Given the description of an element on the screen output the (x, y) to click on. 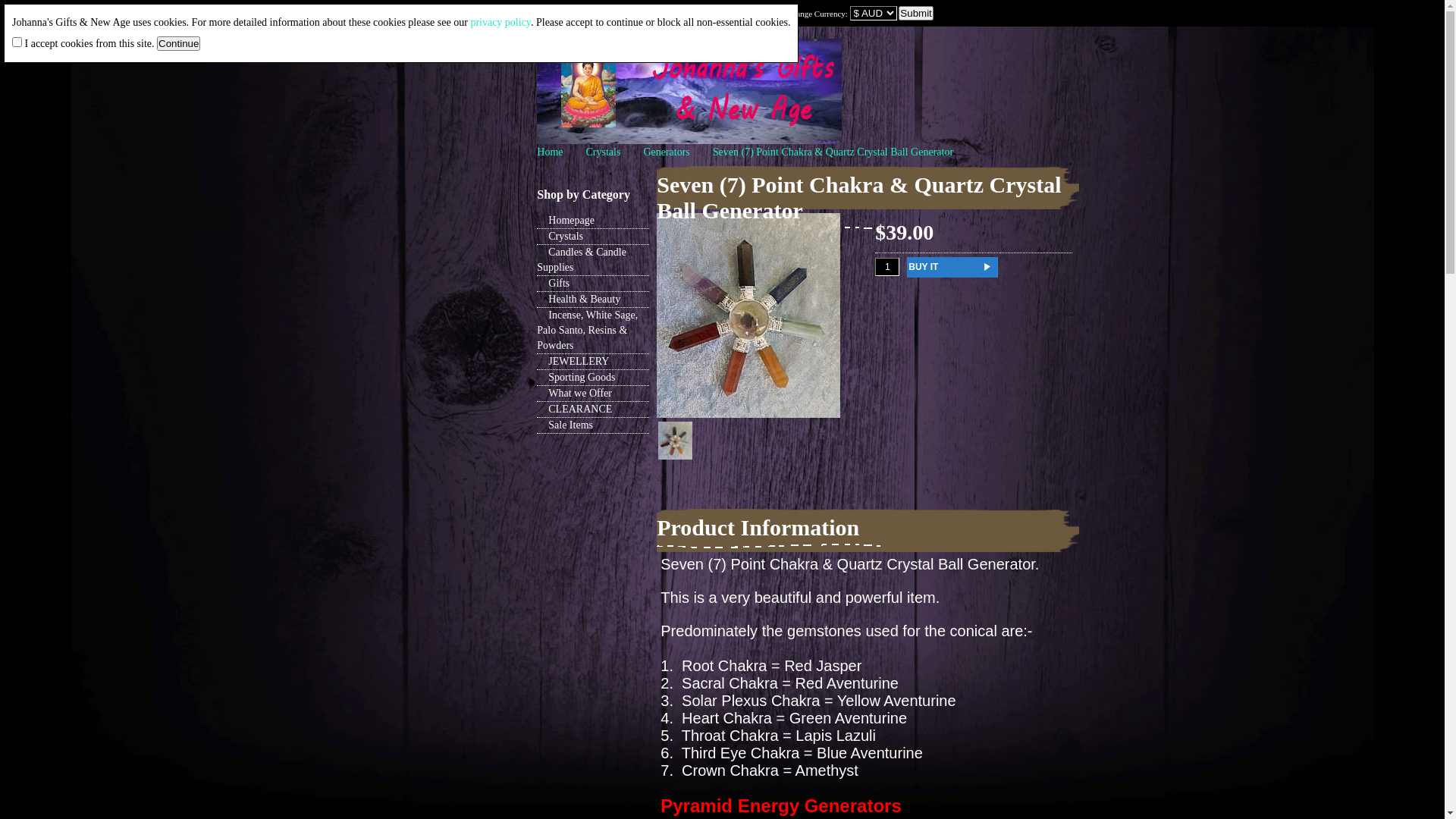
Gifts Element type: text (592, 283)
JEWELLERY Element type: text (592, 362)
CLEARANCE Element type: text (592, 409)
Submit Element type: text (519, 40)
Incense, White Sage, Palo Santo, Resins & Powders Element type: text (592, 330)
What we Offer Element type: text (592, 393)
Home Element type: text (549, 151)
Log In Element type: text (354, 13)
Sale Items Element type: text (592, 425)
Register Element type: text (394, 13)
Crystals Element type: text (602, 151)
Generators Element type: text (666, 151)
Submit Element type: text (915, 13)
Health & Beauty Element type: text (592, 299)
Seven (7) Point Chakra & Quartz Crystal Ball Generator Element type: hover (748, 414)
Homepage Element type: text (592, 221)
Buy it Element type: text (951, 267)
Candles & Candle Supplies Element type: text (592, 260)
Sporting Goods Element type: text (592, 377)
Seven (7) Point Chakra & Quartz Crystal Ball Generator Element type: text (832, 151)
Continue Element type: text (178, 43)
Crystals Element type: text (592, 236)
privacy policy Element type: text (500, 22)
